Given the description of an element on the screen output the (x, y) to click on. 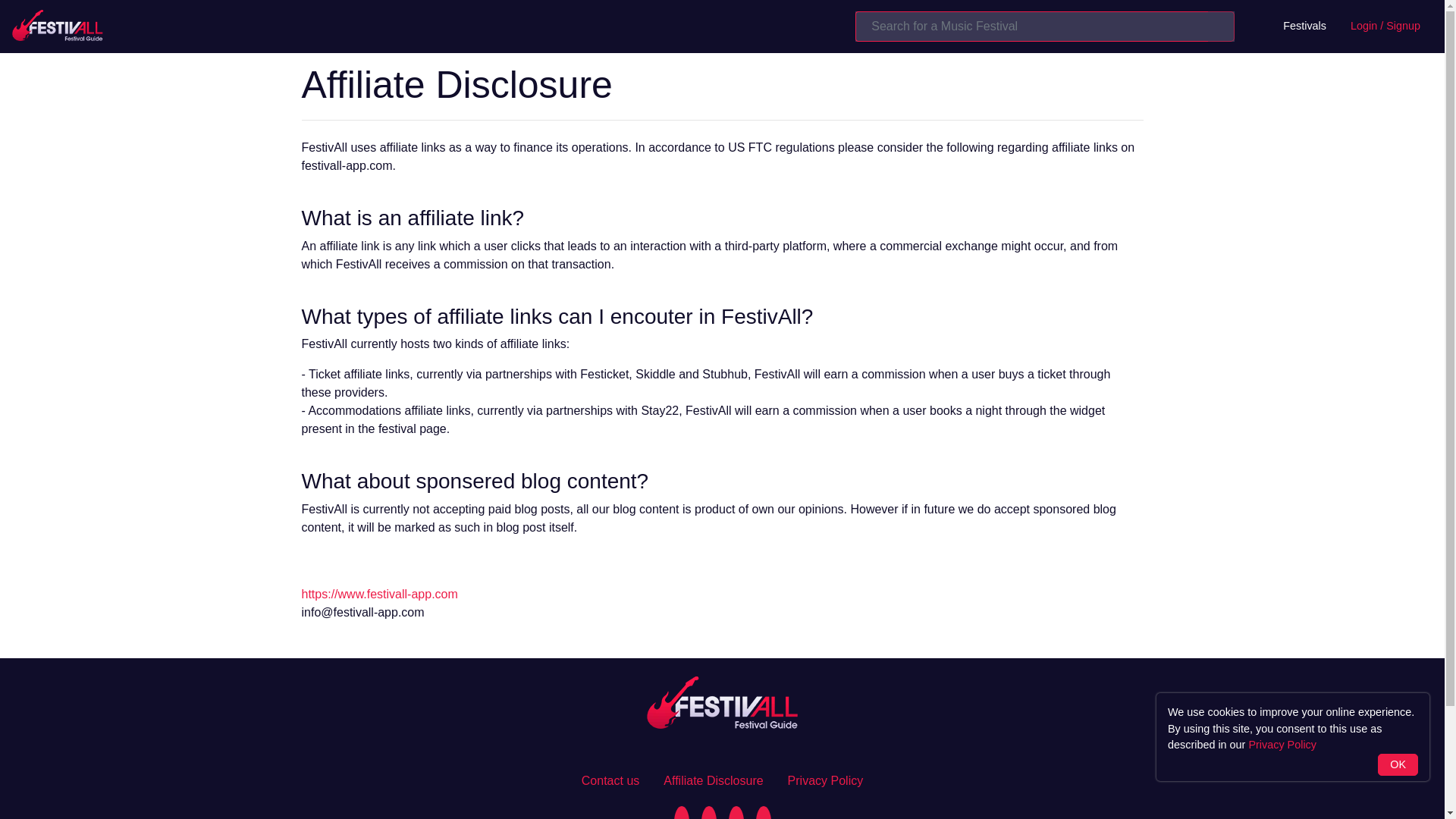
OK (1397, 764)
OK (1397, 764)
Affiliate Disclosure (712, 780)
Contact us (609, 780)
Privacy Policy (825, 780)
Festivals (1304, 25)
Privacy Policy (1281, 744)
